Given the description of an element on the screen output the (x, y) to click on. 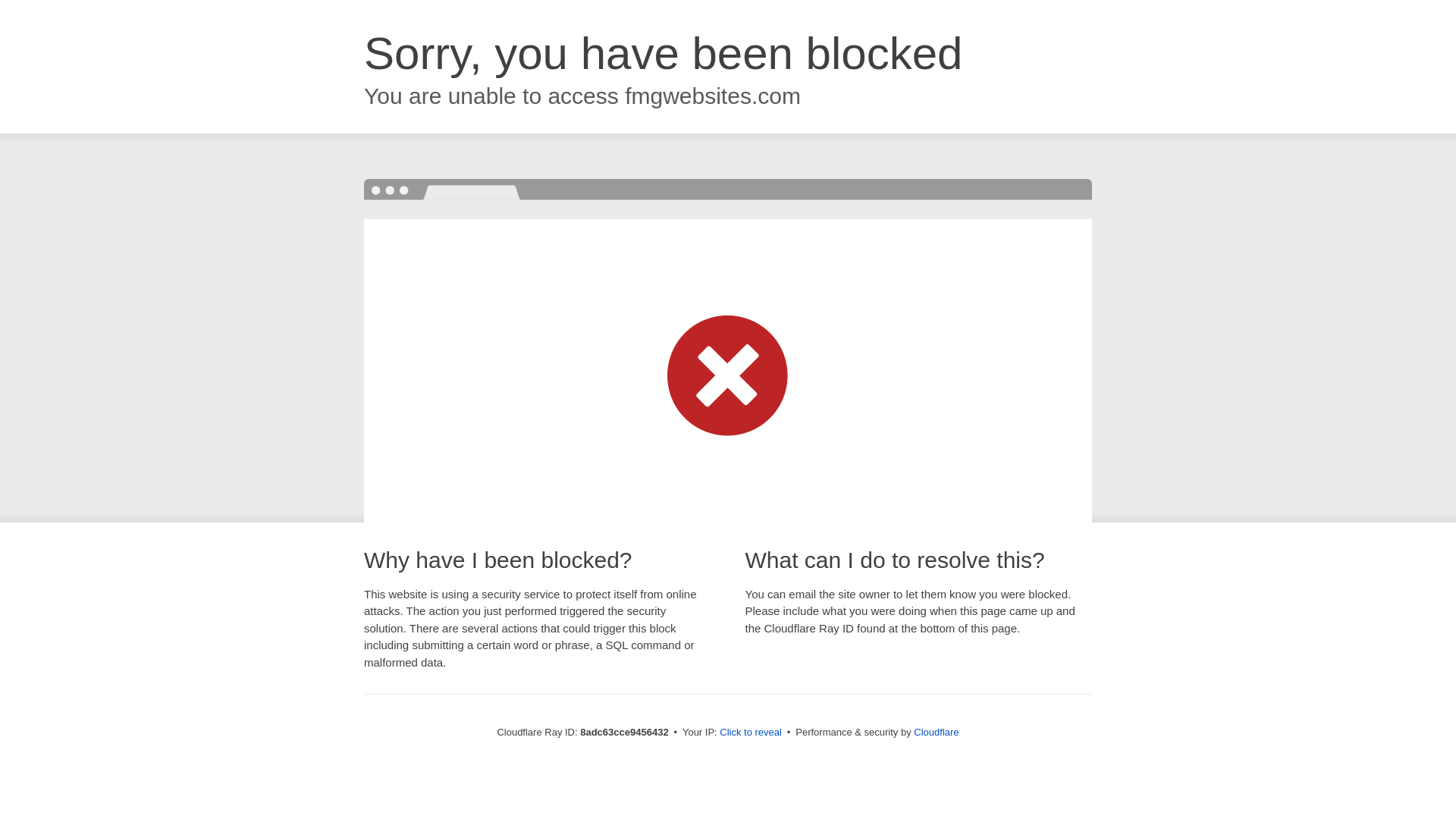
Cloudflare (936, 731)
Click to reveal (750, 732)
